Given the description of an element on the screen output the (x, y) to click on. 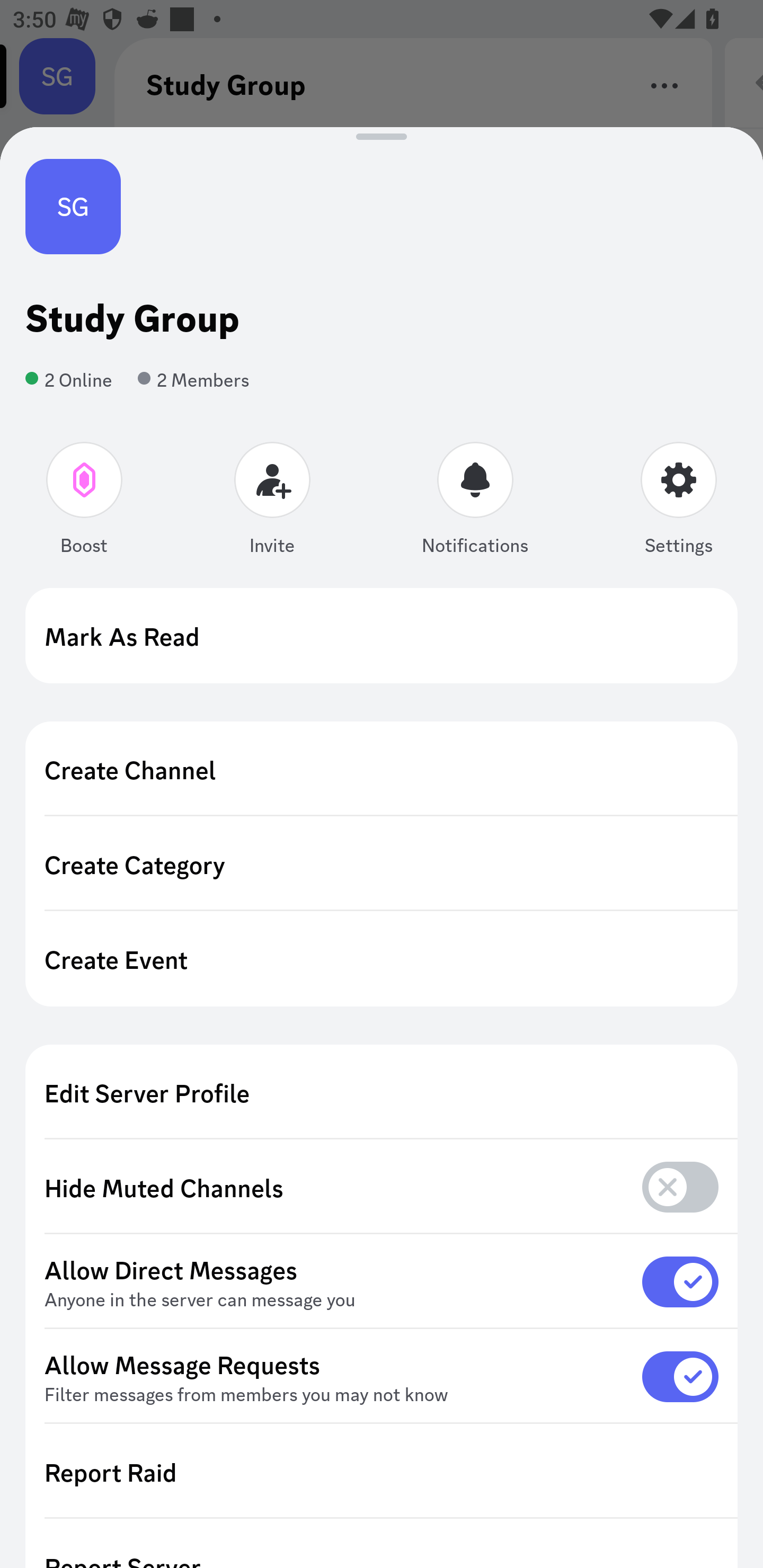
Boost (84, 502)
Invite (272, 502)
Notifications (475, 502)
Settings (678, 502)
Mark As Read (381, 635)
Create Channel (381, 768)
Create Category (381, 863)
Create Event (381, 958)
Edit Server Profile (381, 1091)
off Hide Muted Channels,  Hide Muted Channels off (381, 1187)
off (680, 1186)
on (680, 1281)
on (680, 1376)
Report Raid (381, 1471)
